Given the description of an element on the screen output the (x, y) to click on. 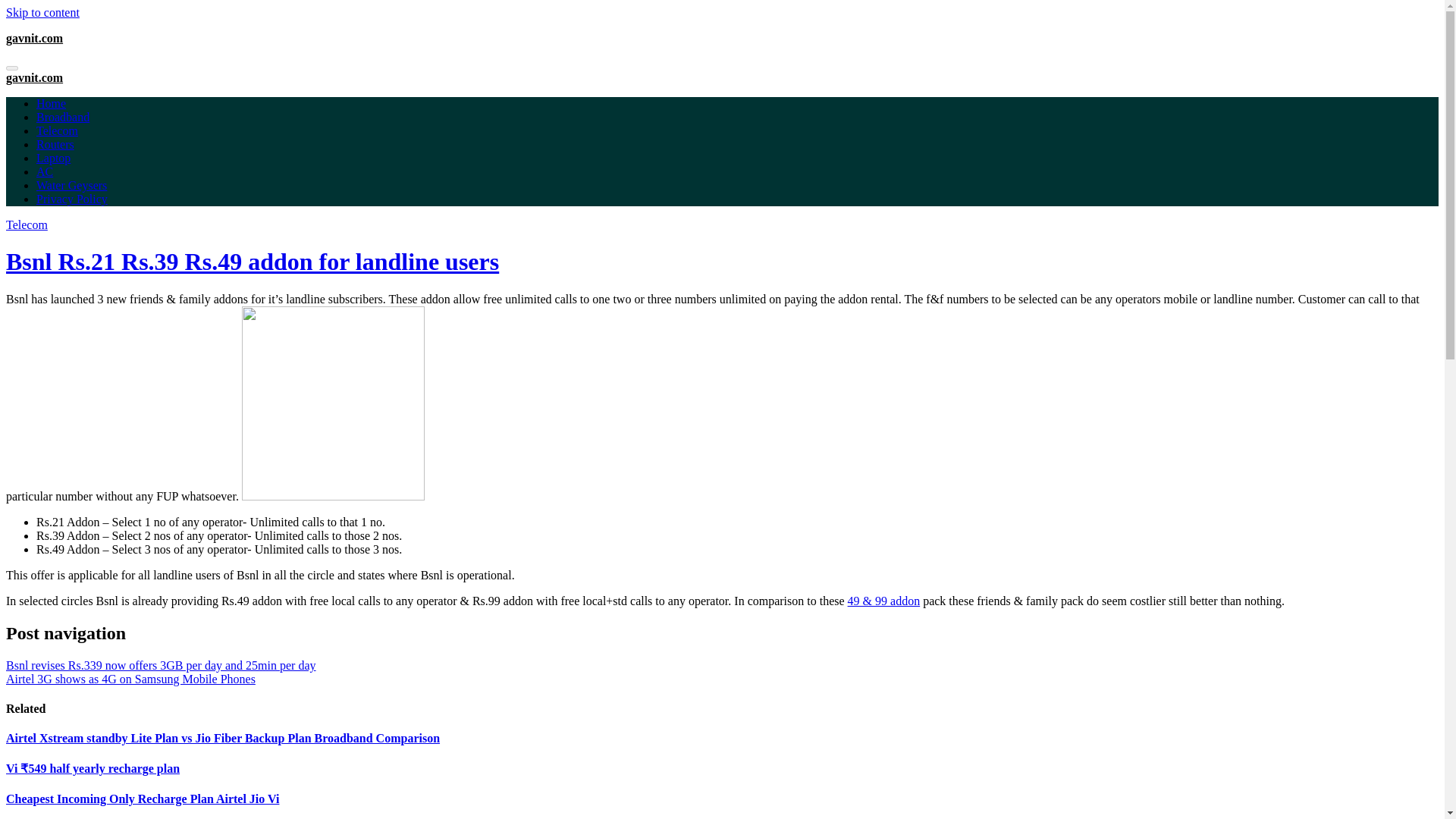
Broadband (62, 116)
Skip to content (42, 11)
Broadband (62, 116)
gavnit.com (33, 38)
AC (44, 171)
Laptop (52, 157)
Laptop (52, 157)
AC (44, 171)
Home (50, 103)
Telecom (57, 130)
gavnit.com (33, 77)
